Given the description of an element on the screen output the (x, y) to click on. 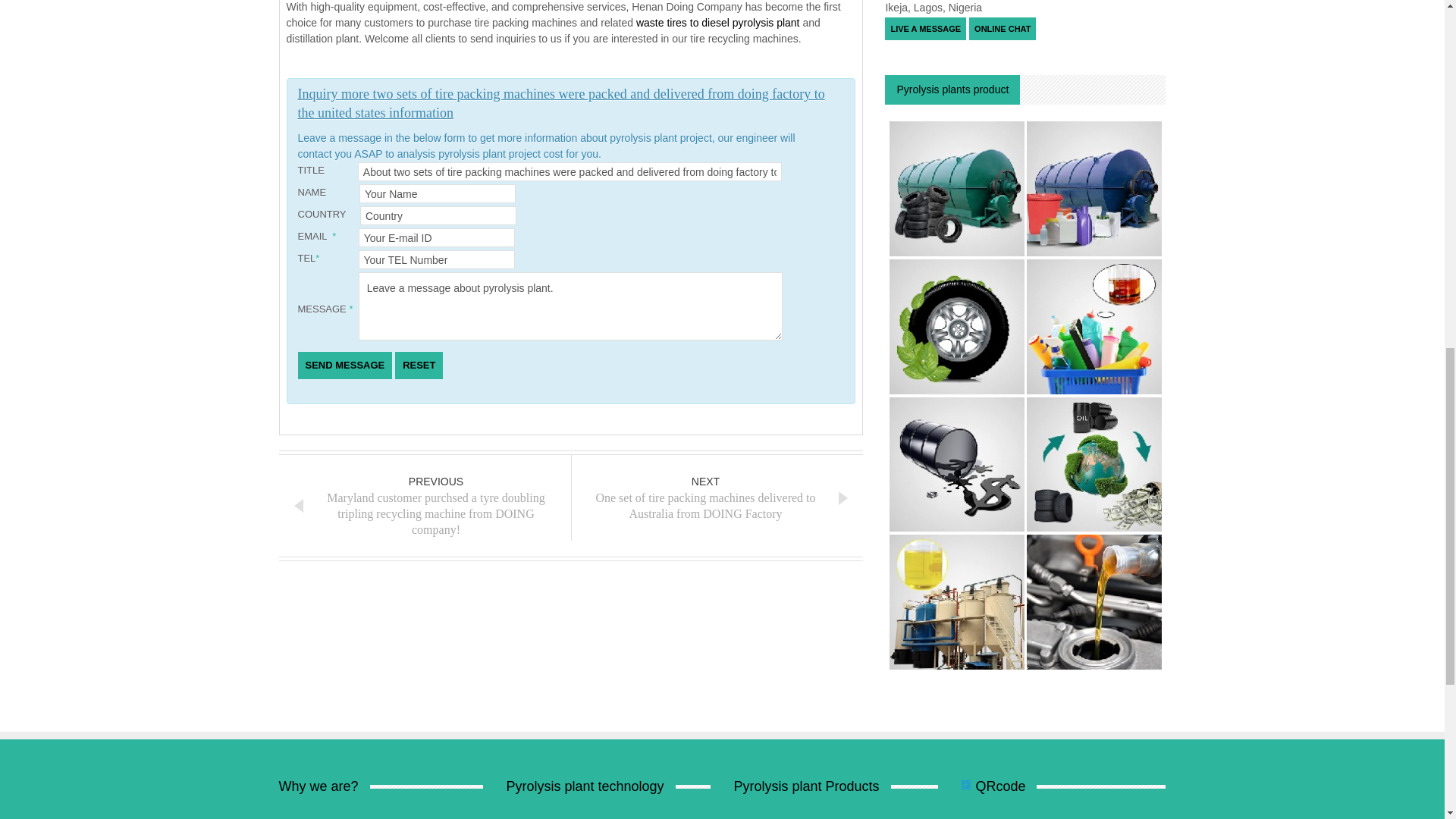
Plastic pyrolysis plant (1093, 187)
Waste Oil refinery (1093, 601)
Wate recycling machine (1093, 463)
Your E-mail ID (436, 237)
Your TEL Number (436, 259)
Reset (418, 365)
Tyre oil plant (957, 463)
Plastic to oil (1093, 325)
Tyre pyrolysis plant (957, 325)
Country (437, 215)
